Given the description of an element on the screen output the (x, y) to click on. 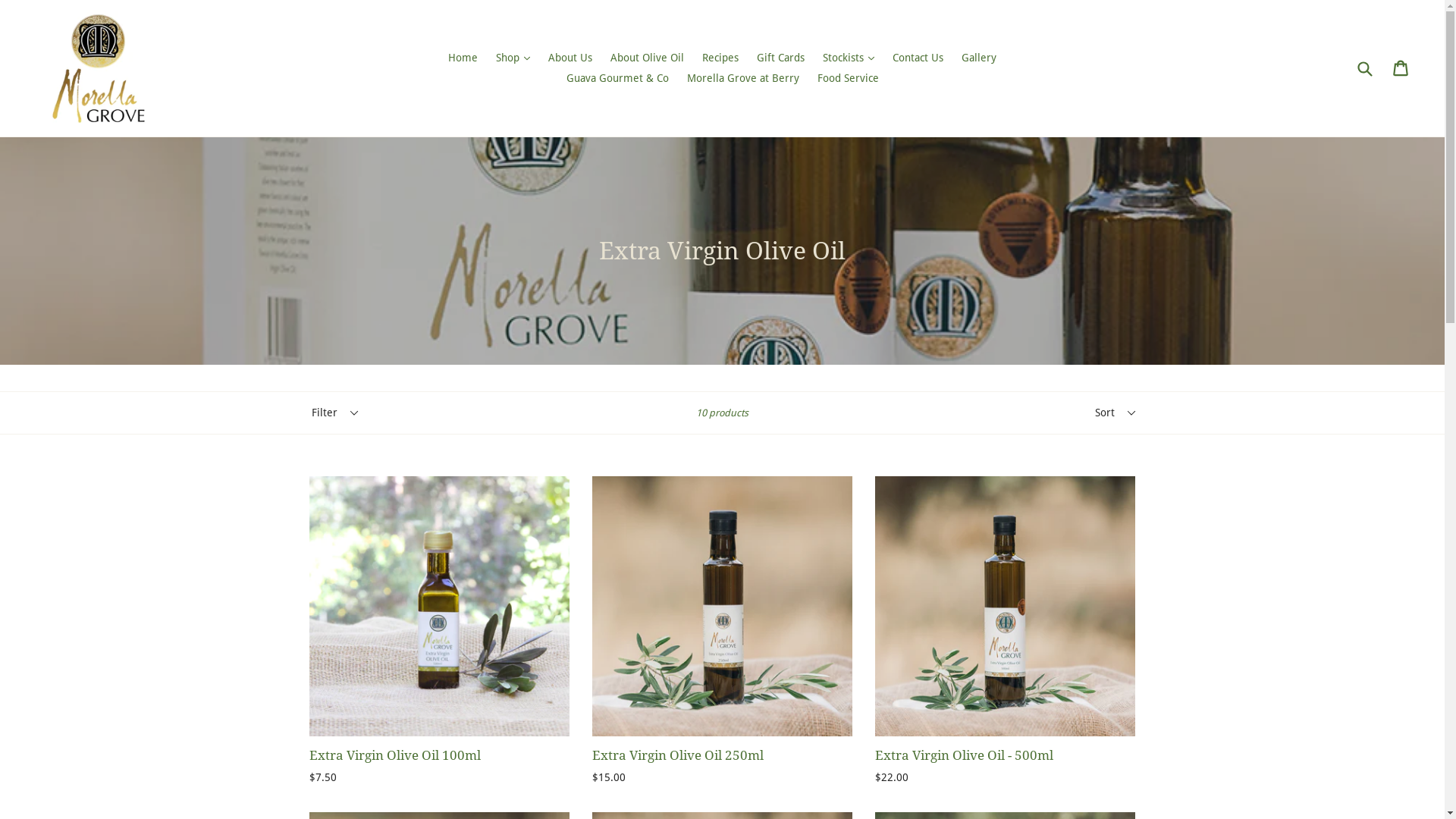
Morella Grove at Berry Element type: text (742, 78)
Extra Virgin Olive Oil 250ml
Regular price
$15.00 Element type: text (722, 630)
Home Element type: text (462, 57)
Contact Us Element type: text (917, 57)
Food Service Element type: text (847, 78)
Extra Virgin Olive Oil - 500ml
Regular price
$22.00 Element type: text (1005, 630)
About Olive Oil Element type: text (646, 57)
About Us Element type: text (569, 57)
Submit Element type: text (1363, 68)
Cart
Cart Element type: text (1401, 67)
Extra Virgin Olive Oil 100ml
Regular price
$7.50 Element type: text (439, 630)
Gallery Element type: text (978, 57)
Guava Gourmet & Co Element type: text (616, 78)
Recipes Element type: text (720, 57)
Gift Cards Element type: text (780, 57)
